Given the description of an element on the screen output the (x, y) to click on. 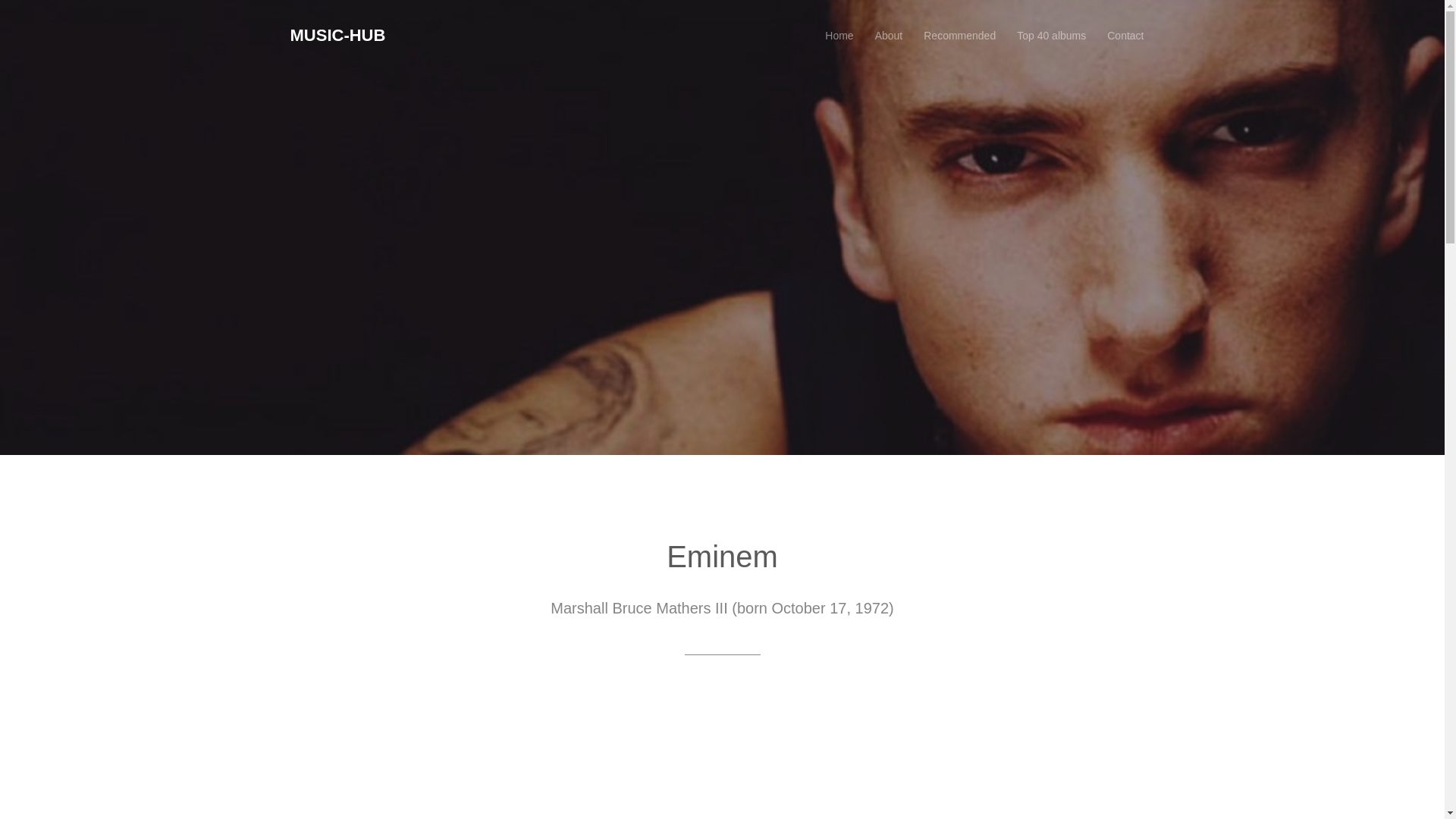
Recommended Element type: text (959, 34)
Top 40 albums Element type: text (1051, 34)
About Element type: text (888, 34)
Home Element type: text (838, 34)
Contact Element type: text (1125, 34)
MUSIC-HUB Element type: text (337, 34)
